Given the description of an element on the screen output the (x, y) to click on. 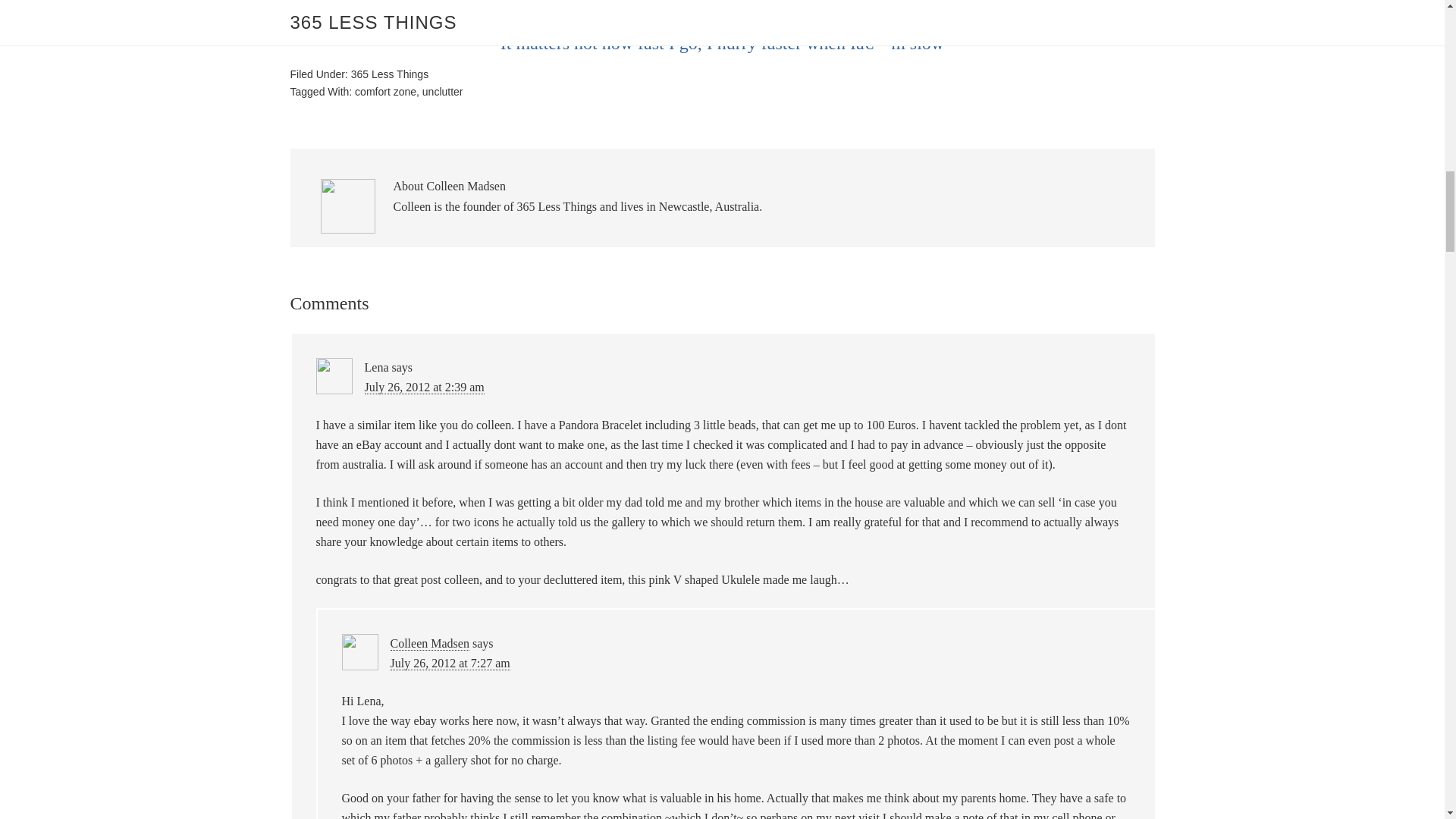
Colleen Madsen (429, 643)
365 Less Things (389, 73)
July 26, 2012 at 7:27 am (449, 663)
comfort zone (385, 91)
unclutter (442, 91)
July 26, 2012 at 2:39 am (423, 386)
